Given the description of an element on the screen output the (x, y) to click on. 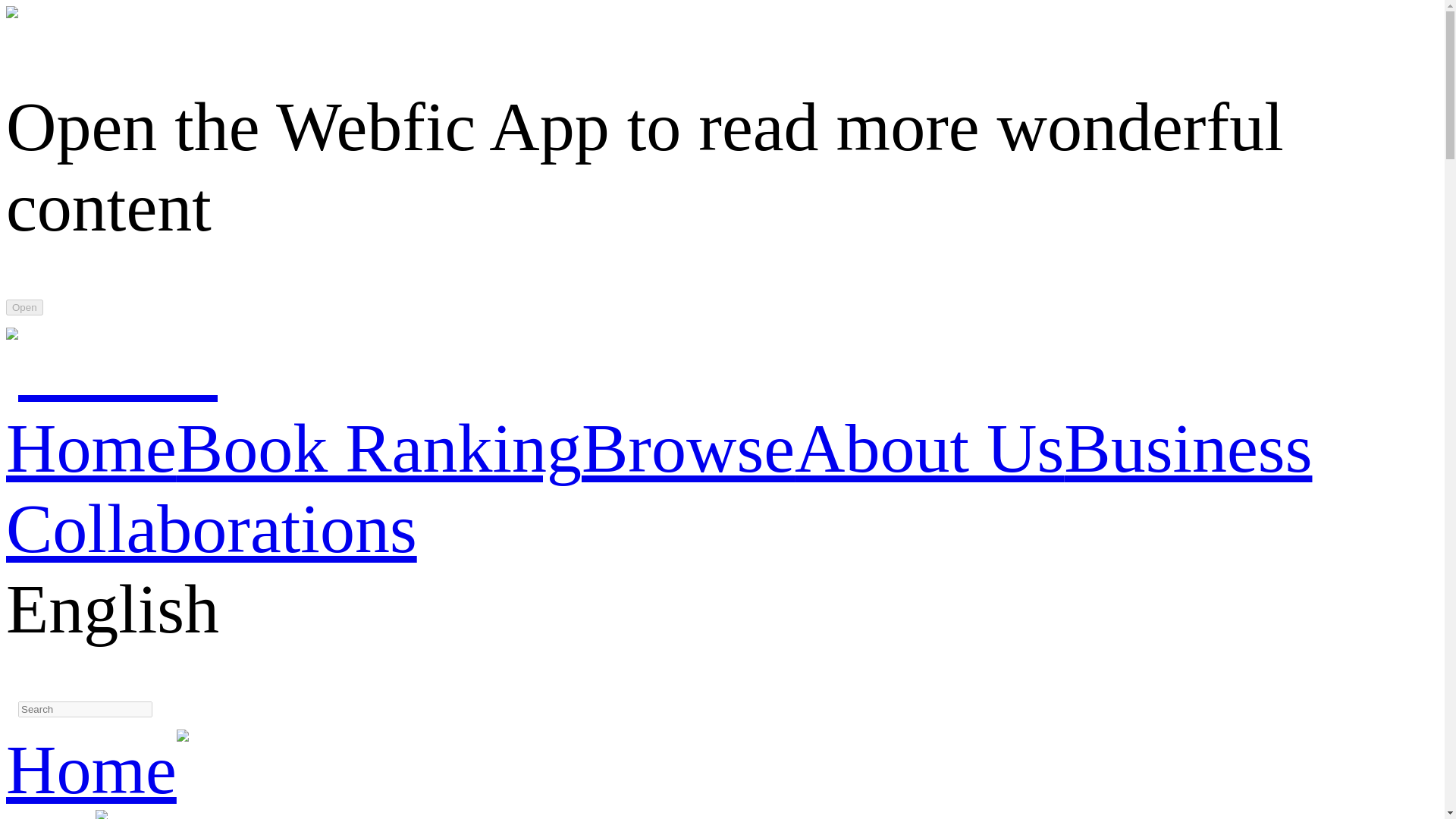
Home (90, 447)
All (50, 815)
Open (24, 307)
Home (90, 769)
Browse (687, 447)
Book Ranking (378, 447)
About Us (929, 447)
